Given the description of an element on the screen output the (x, y) to click on. 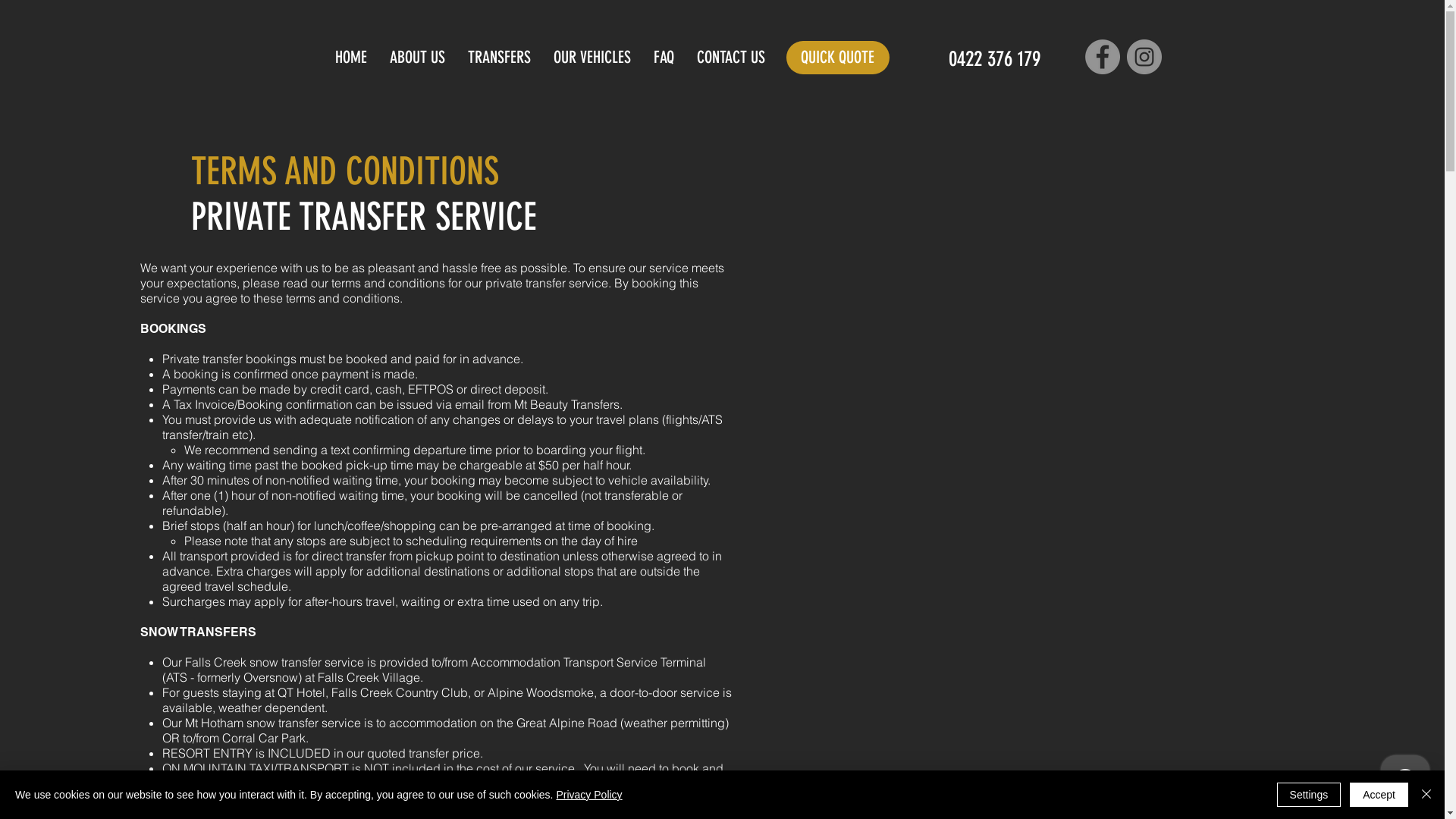
HOME Element type: text (350, 57)
CONTACT US Element type: text (730, 57)
Privacy Policy Element type: text (588, 794)
ABOUT US Element type: text (417, 57)
FAQ Element type: text (663, 57)
0422 376 179 Element type: text (993, 58)
QUICK QUOTE Element type: text (836, 57)
Accept Element type: text (1378, 794)
TRANSFERS Element type: text (499, 57)
Settings Element type: text (1309, 794)
OUR VEHICLES Element type: text (592, 57)
